Given the description of an element on the screen output the (x, y) to click on. 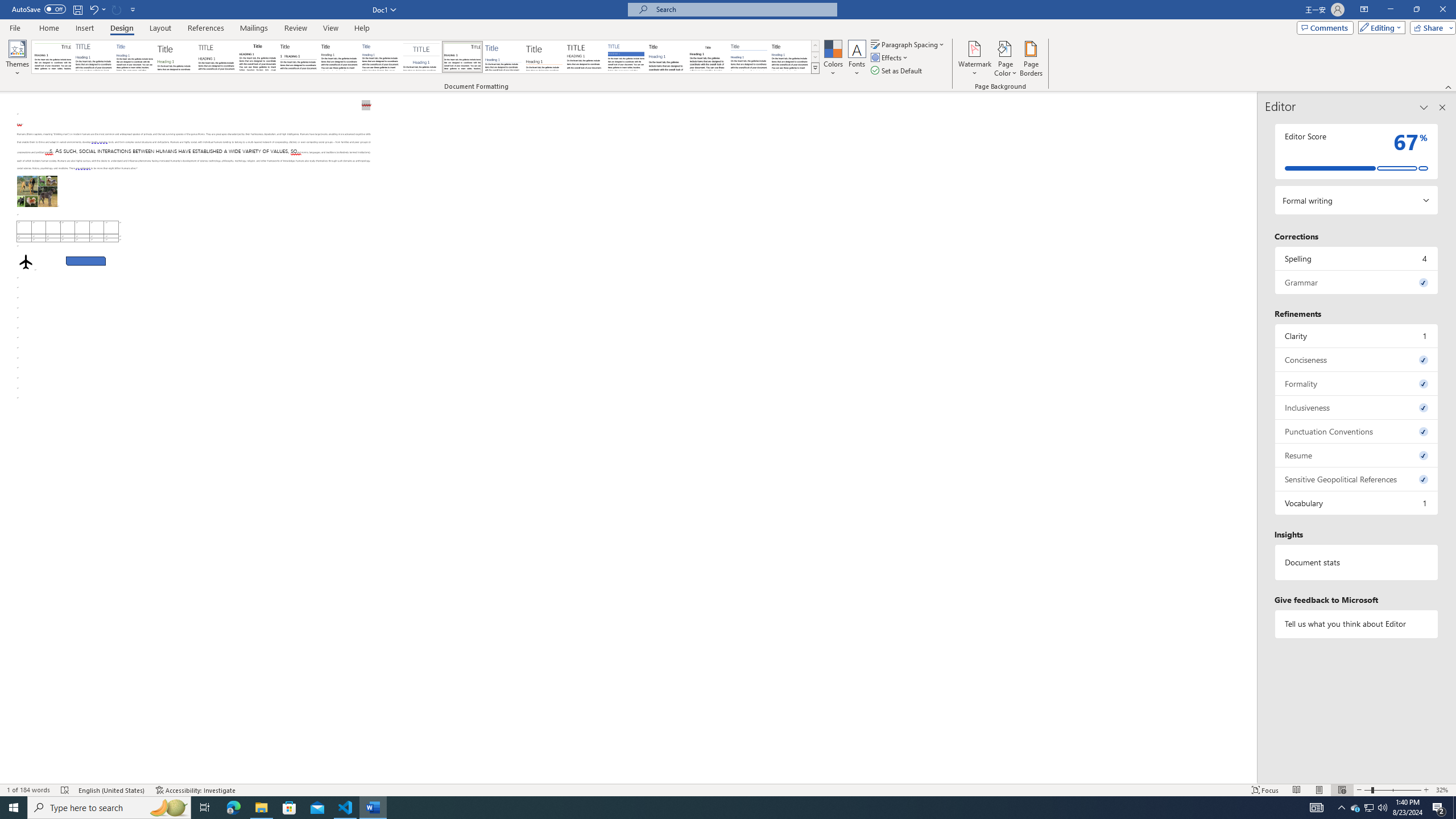
Black & White (Classic) (257, 56)
Black & White (Word 2013) (338, 56)
Black & White (Capitalized) (216, 56)
AutomationID: QuickStylesSets (425, 56)
Set as Default (897, 69)
Lines (Stylish) (544, 56)
